Given the description of an element on the screen output the (x, y) to click on. 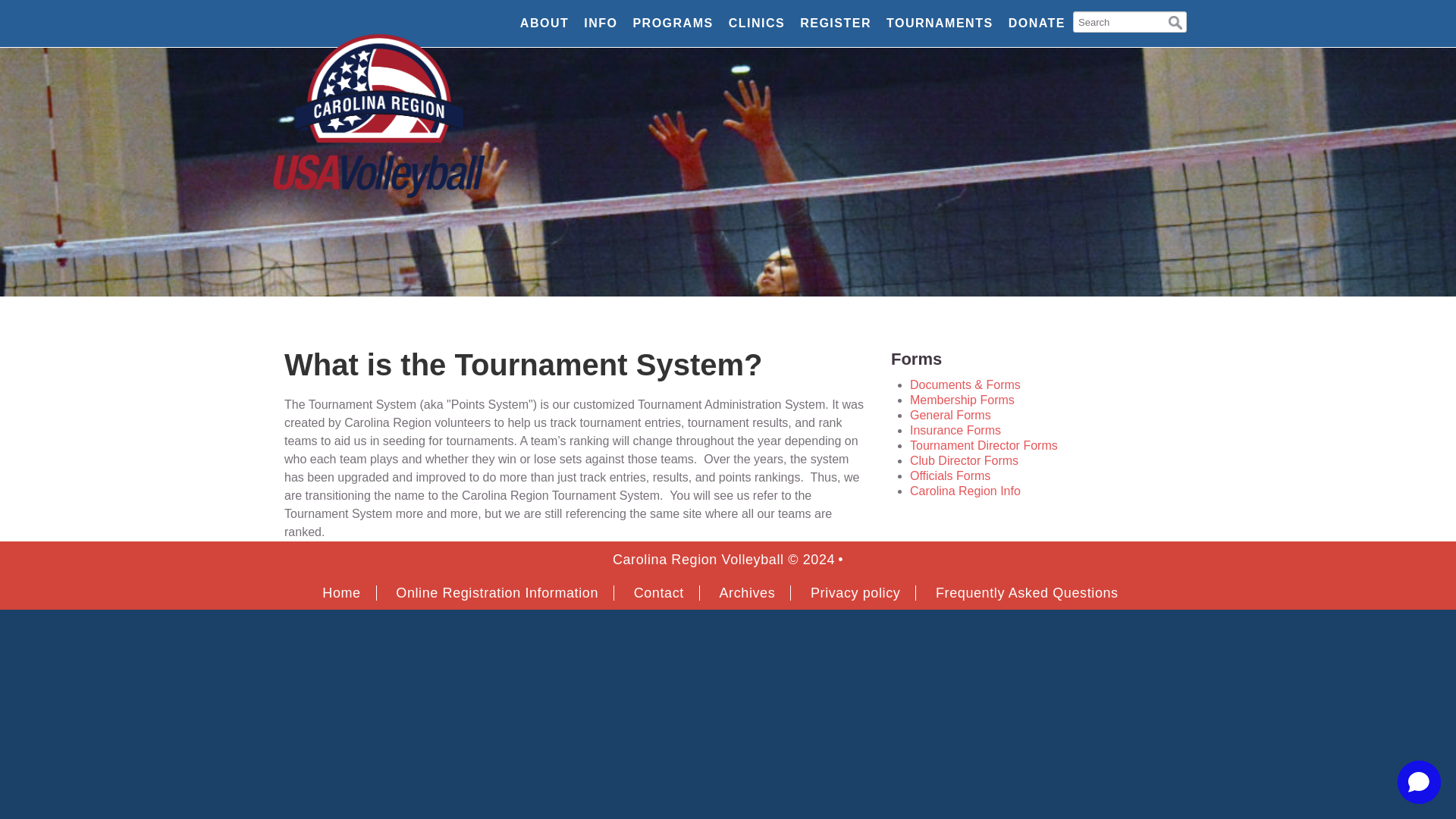
INFO (600, 23)
ABOUT (544, 23)
CLINICS (757, 23)
PROGRAMS (672, 23)
